Given the description of an element on the screen output the (x, y) to click on. 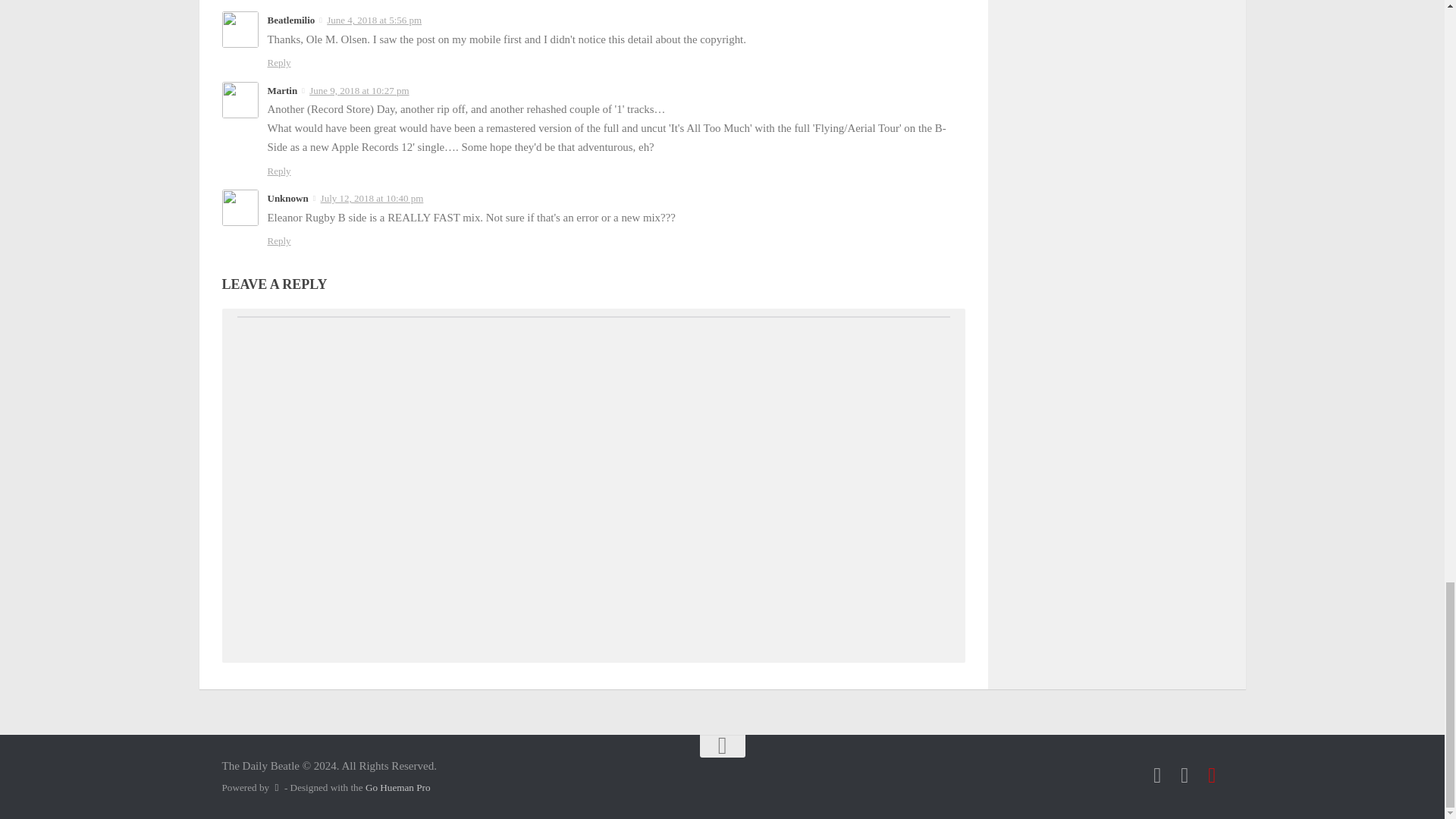
Reply (277, 61)
June 4, 2018 at 5:56 pm (374, 19)
June 9, 2018 at 10:27 pm (358, 90)
